Given the description of an element on the screen output the (x, y) to click on. 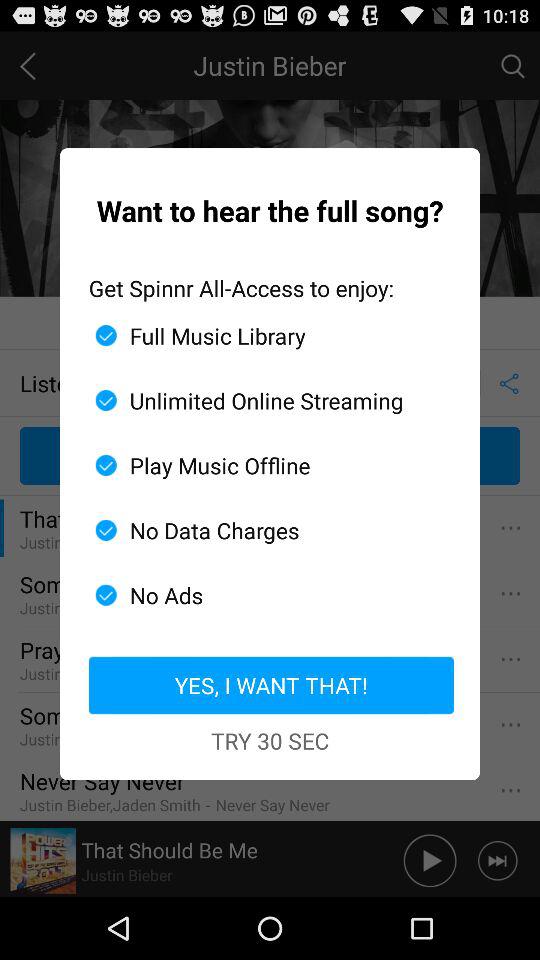
open the unlimited online streaming (261, 400)
